Given the description of an element on the screen output the (x, y) to click on. 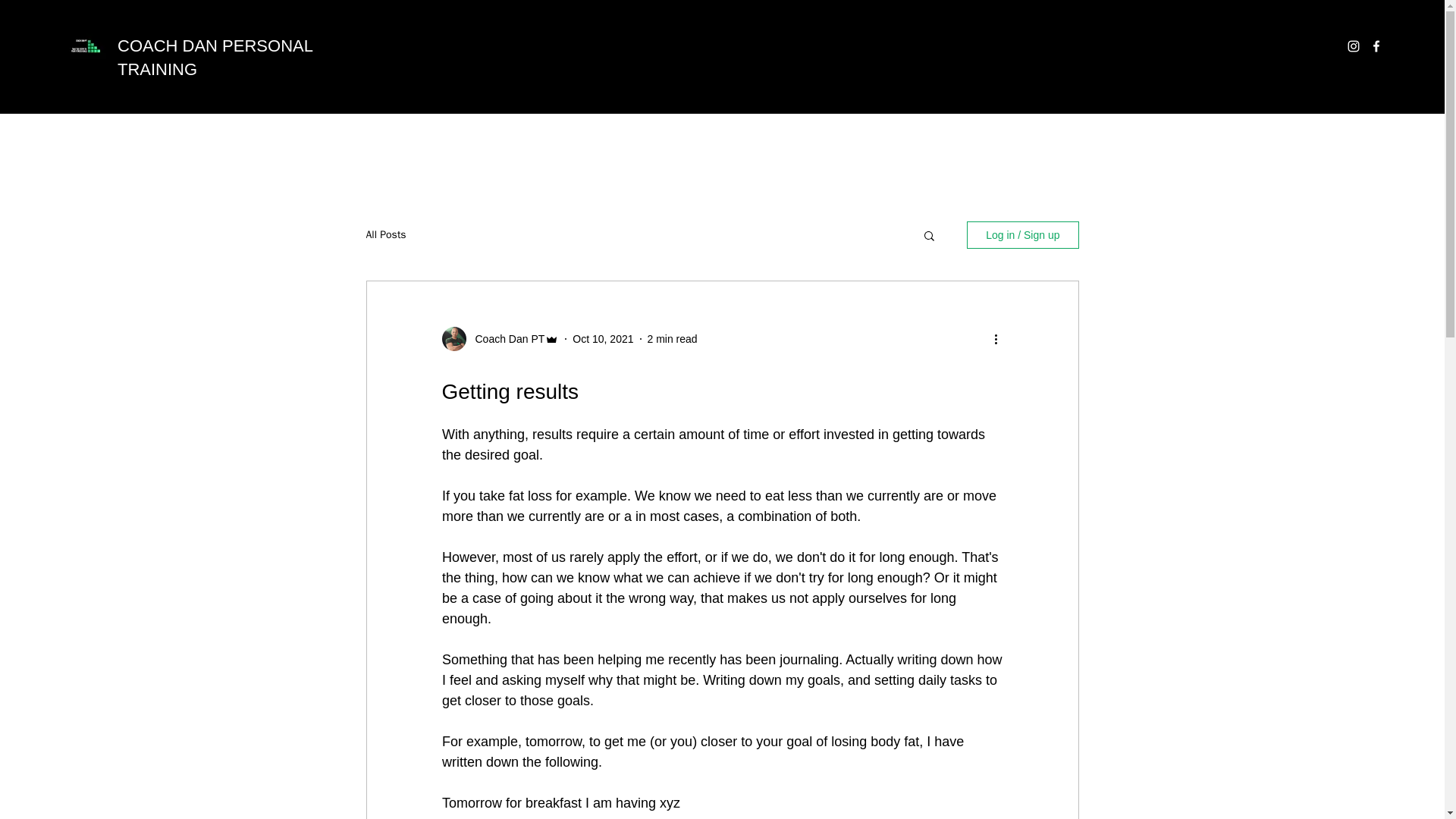
COACH DAN PERSONAL TRAINING (215, 57)
Oct 10, 2021 (602, 338)
All Posts (385, 234)
2 min read (672, 338)
Coach Dan PT (504, 339)
